Given the description of an element on the screen output the (x, y) to click on. 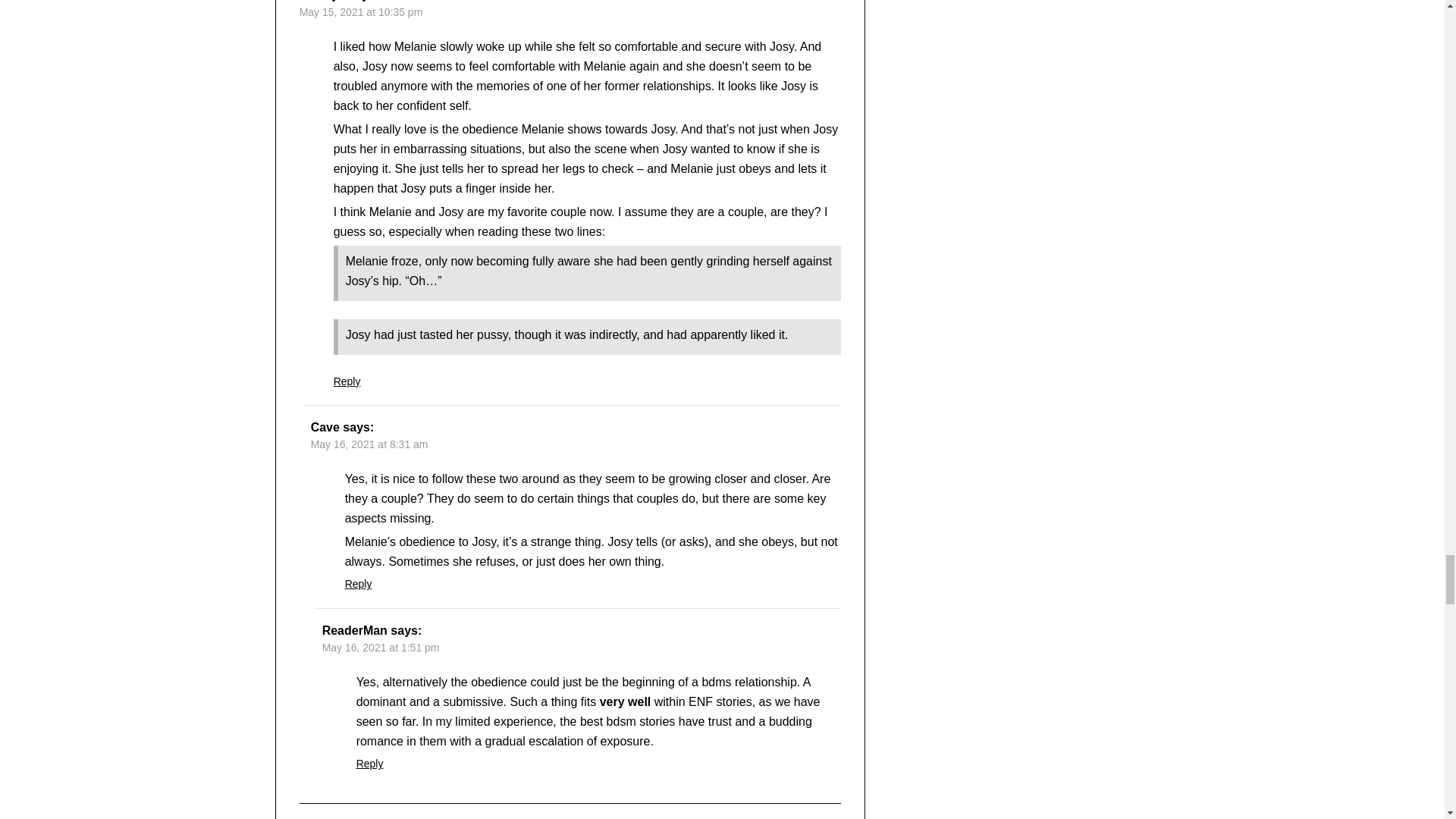
May 16, 2021 at 1:51 pm (380, 647)
May 16, 2021 at 8:31 am (369, 444)
Reply (358, 583)
Reply (370, 763)
Reply (347, 381)
May 15, 2021 at 10:35 pm (361, 11)
